Given the description of an element on the screen output the (x, y) to click on. 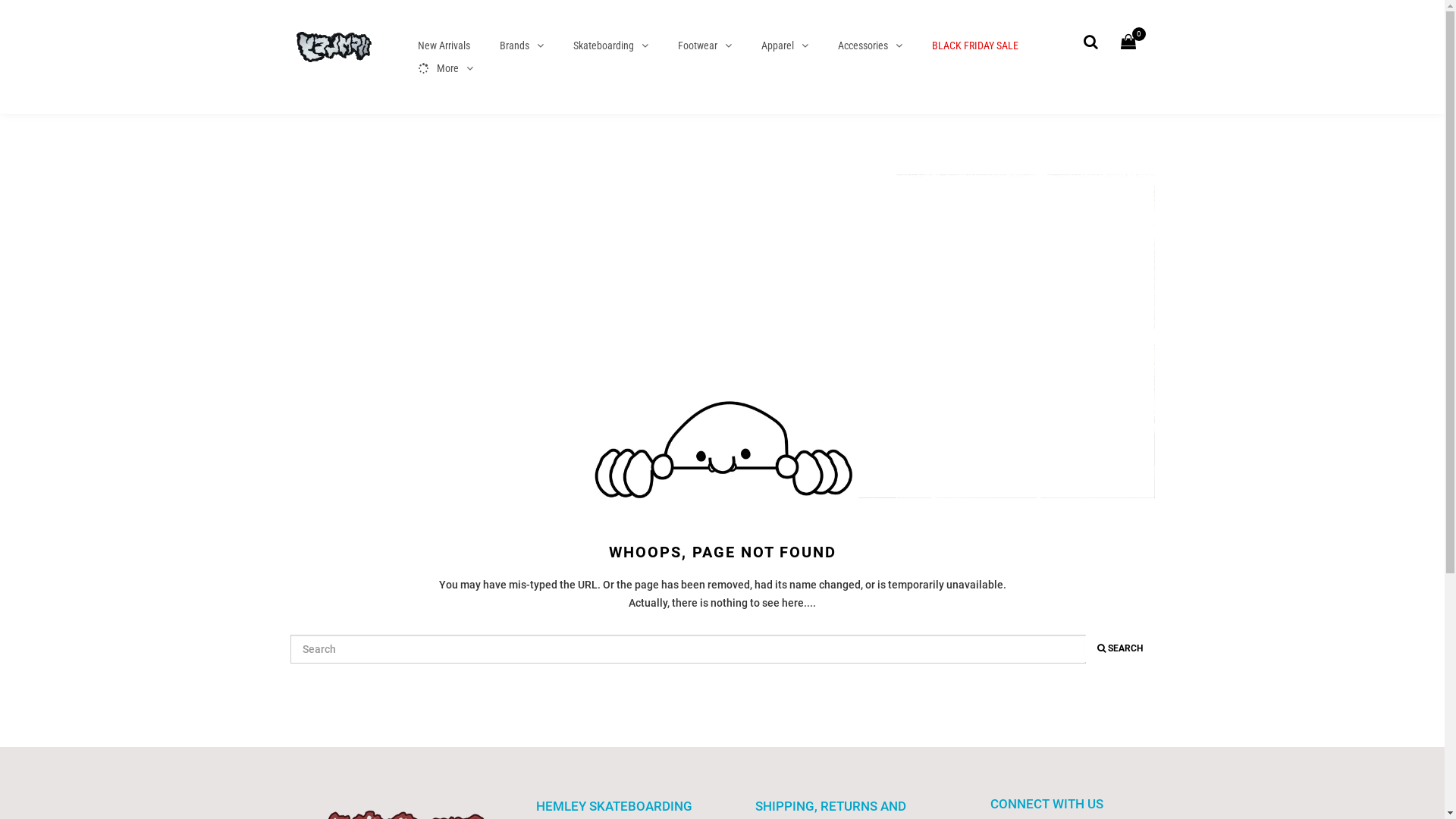
Accessories Element type: text (869, 45)
BLACK FRIDAY SALE Element type: text (974, 45)
0 Element type: text (1131, 41)
More Element type: text (444, 67)
Footwear Element type: text (703, 45)
Apparel Element type: text (784, 45)
New Arrivals Element type: text (443, 45)
Skateboarding Element type: text (610, 45)
Brands Element type: text (521, 45)
SEARCH Element type: text (1119, 648)
